Given the description of an element on the screen output the (x, y) to click on. 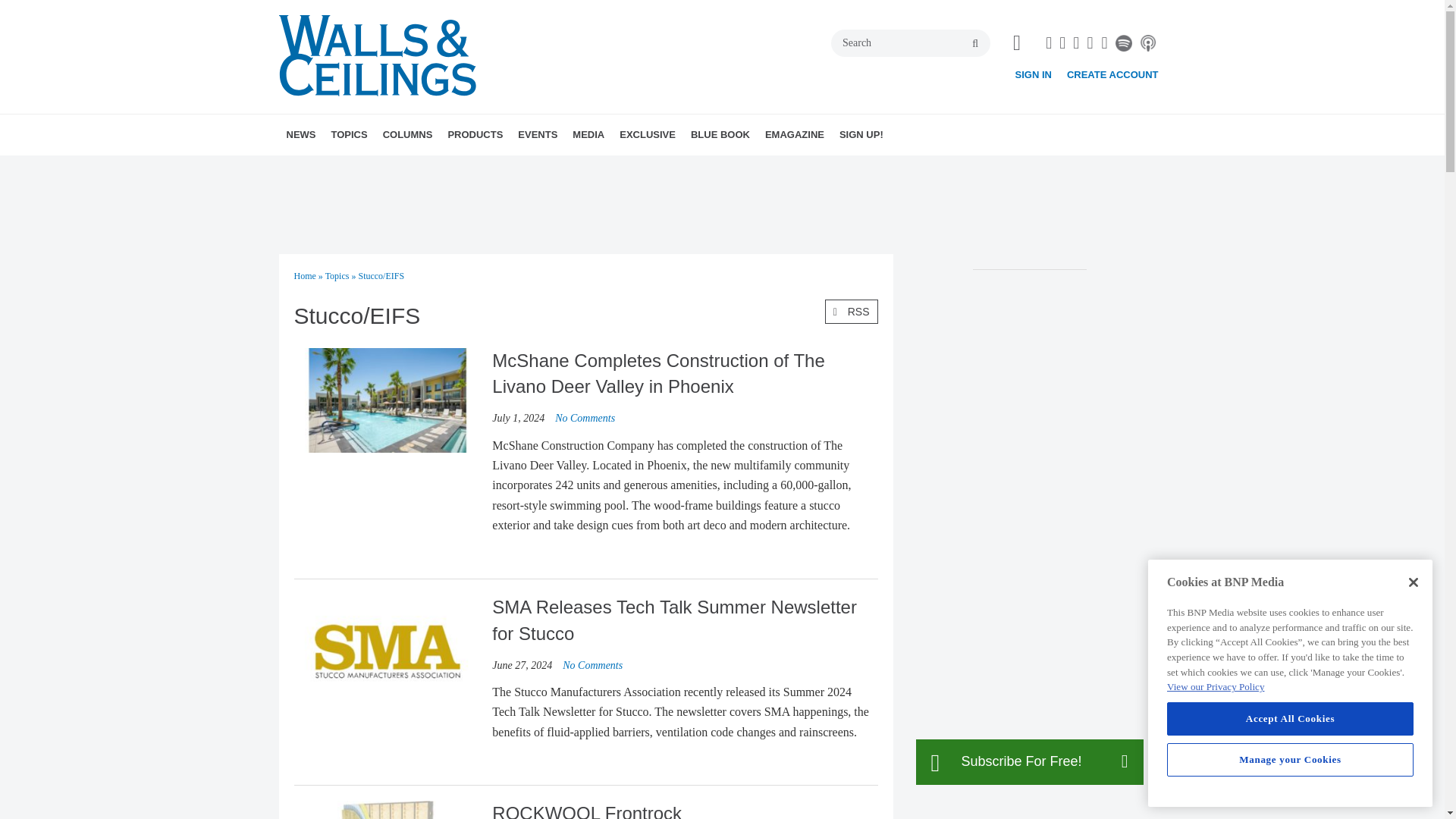
The Livano Deer Valley Exterior (387, 400)
Search (910, 42)
ROCKWOOL Frontrock For EIFS (387, 809)
SMA Releases Tech Talk Summer Newsletter for Stucco (387, 649)
SMA Releases Tech Talk Summer Newsletter for Stucco (592, 665)
SMA logo (387, 651)
Search (910, 42)
